Given the description of an element on the screen output the (x, y) to click on. 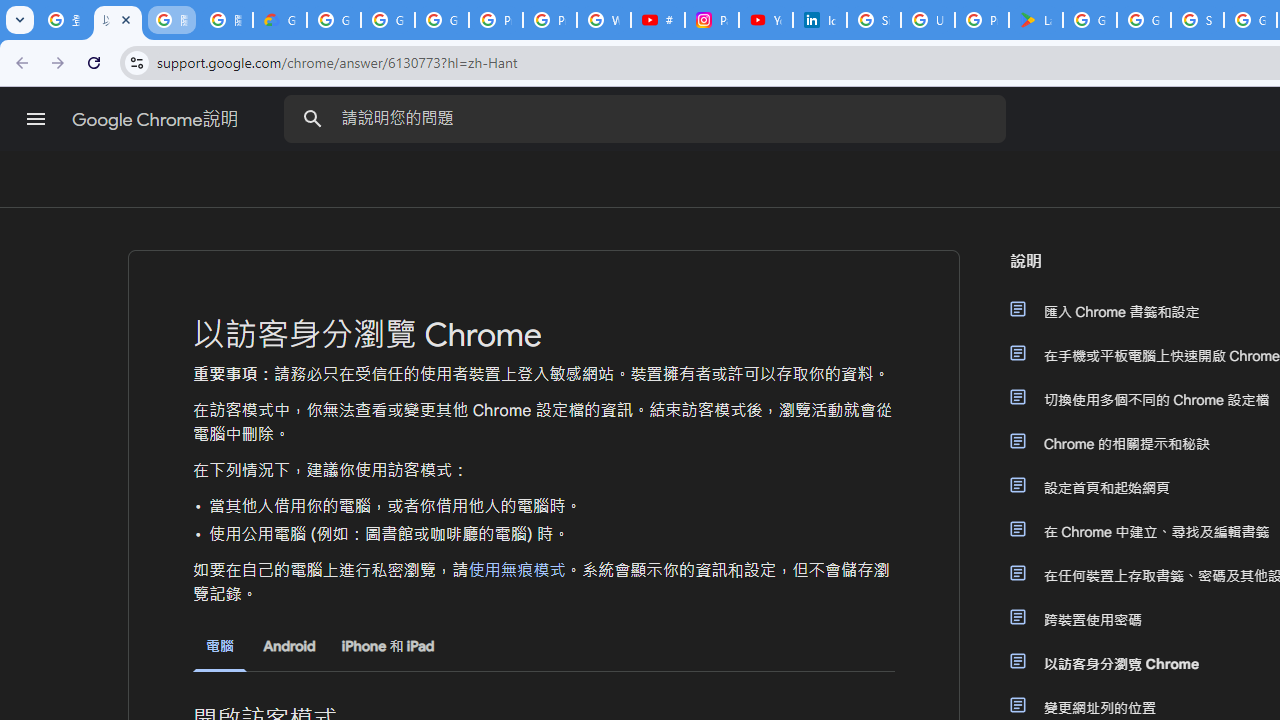
#nbabasketballhighlights - YouTube (657, 20)
Android (288, 646)
Last Shelter: Survival - Apps on Google Play (1035, 20)
Google Workspace - Specific Terms (1144, 20)
